Given the description of an element on the screen output the (x, y) to click on. 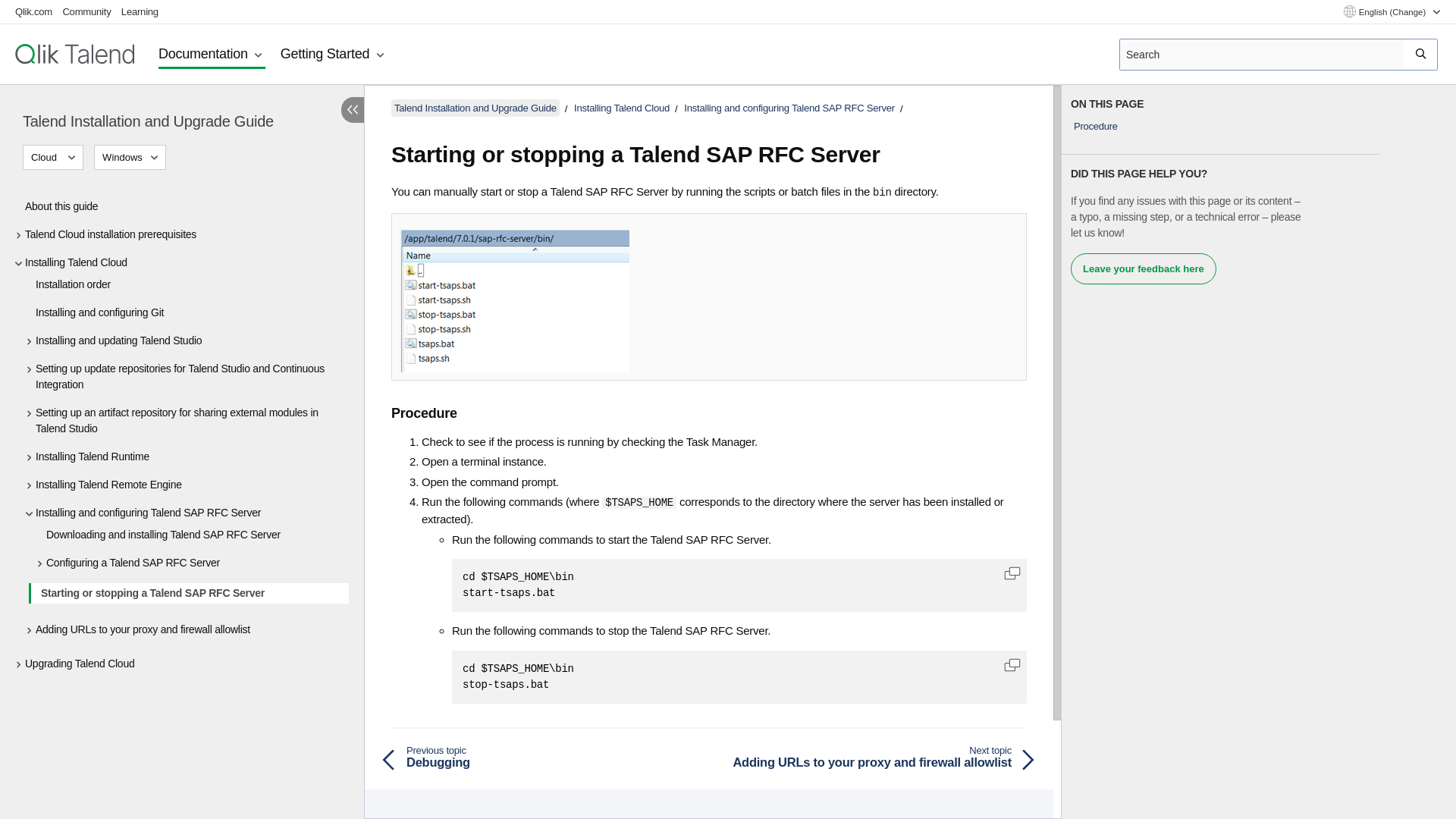
Documentation (211, 54)
Search (1421, 54)
Copy code to clipboard (1012, 572)
Learning (139, 11)
Getting Started (334, 54)
Copy code to clipboard (1012, 664)
Qlik.com (33, 11)
Community (86, 11)
